Given the description of an element on the screen output the (x, y) to click on. 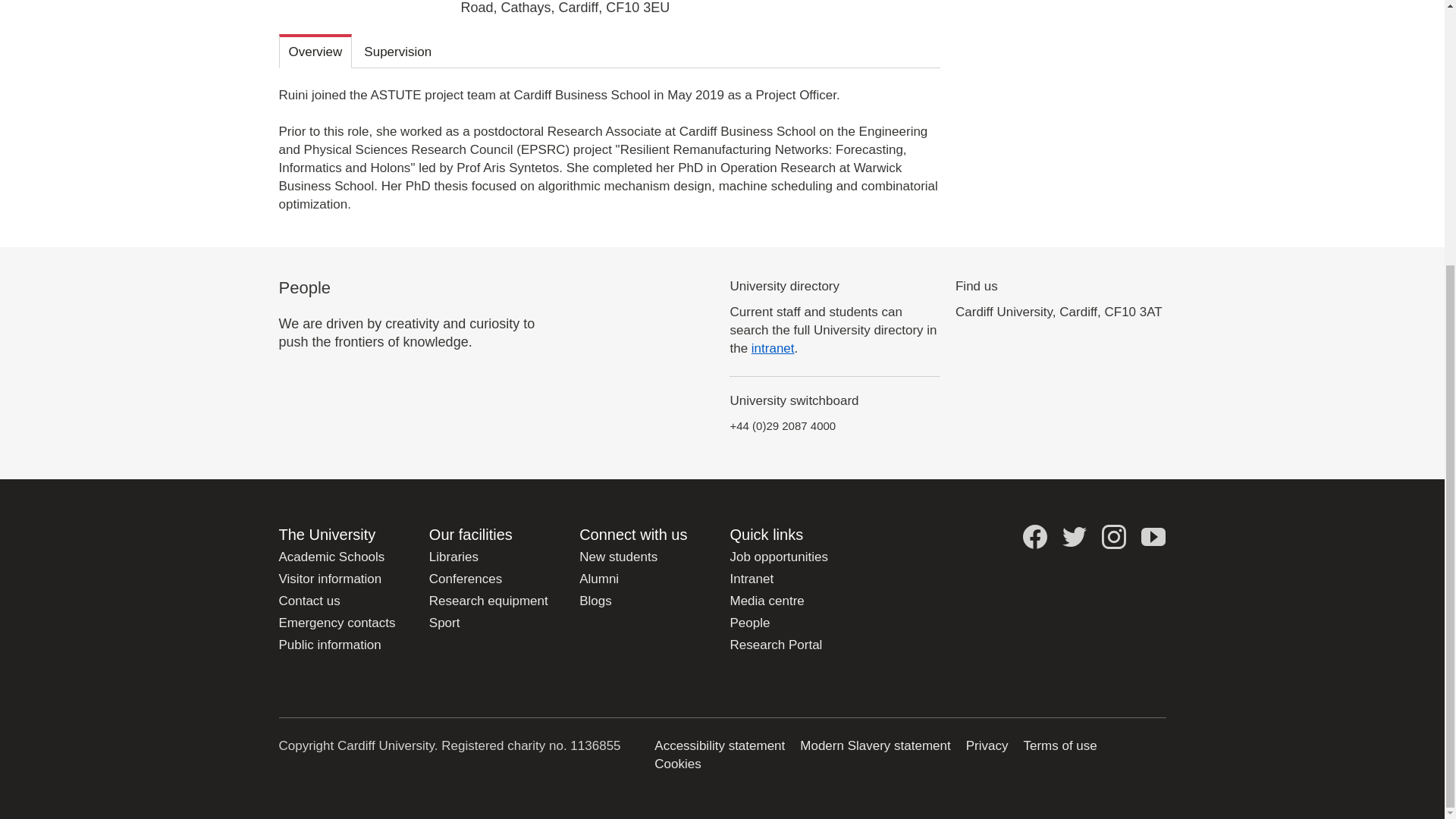
instagram (1113, 536)
twitter no background icon (1074, 536)
facebook (1034, 536)
Youtube (1153, 536)
